Given the description of an element on the screen output the (x, y) to click on. 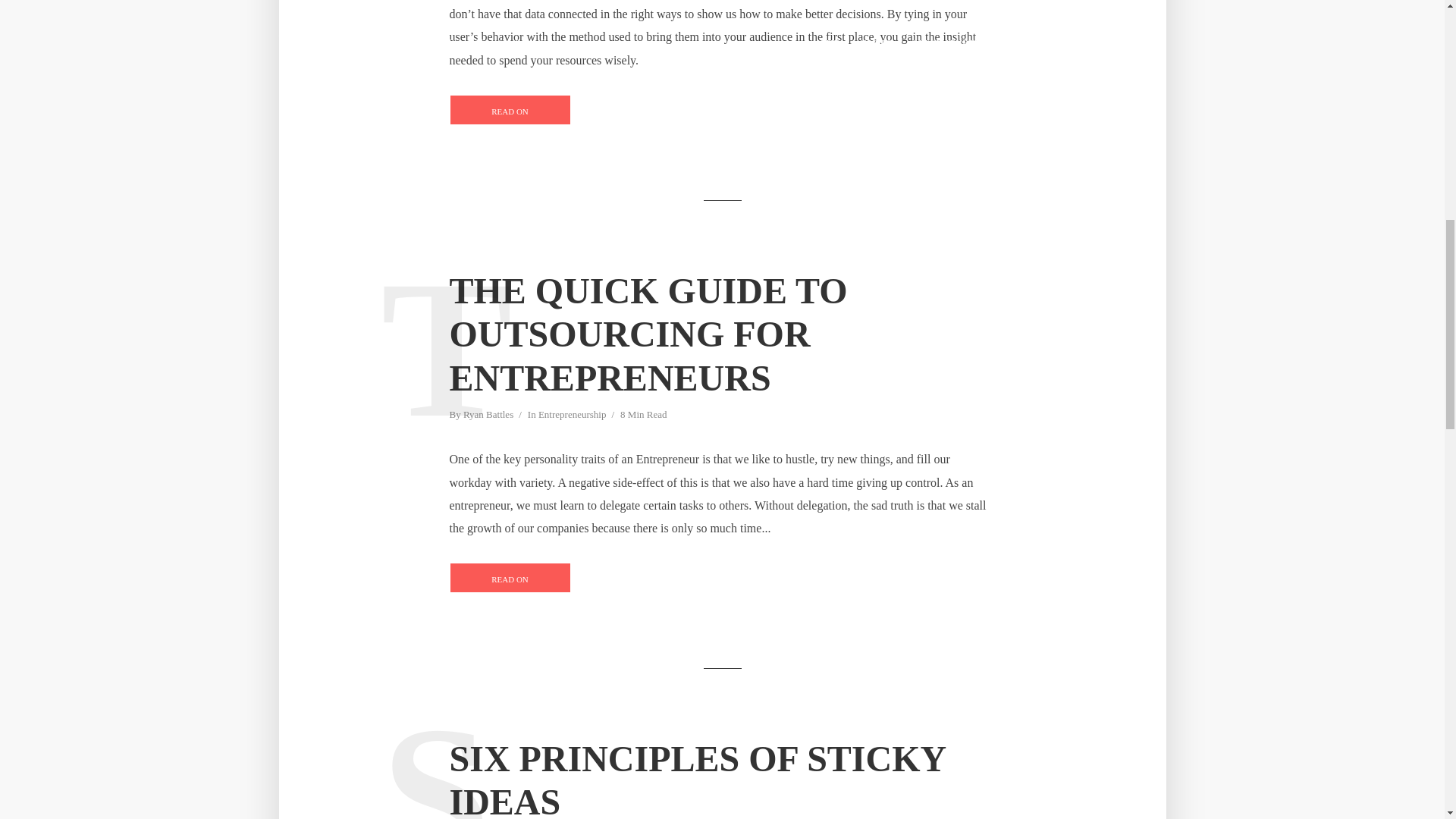
Entrepreneurship (572, 415)
THE QUICK GUIDE TO OUTSOURCING FOR ENTREPRENEURS (721, 334)
Ryan Battles (488, 415)
READ ON (509, 577)
READ ON (509, 110)
SIX PRINCIPLES OF STICKY IDEAS (721, 778)
